Given the description of an element on the screen output the (x, y) to click on. 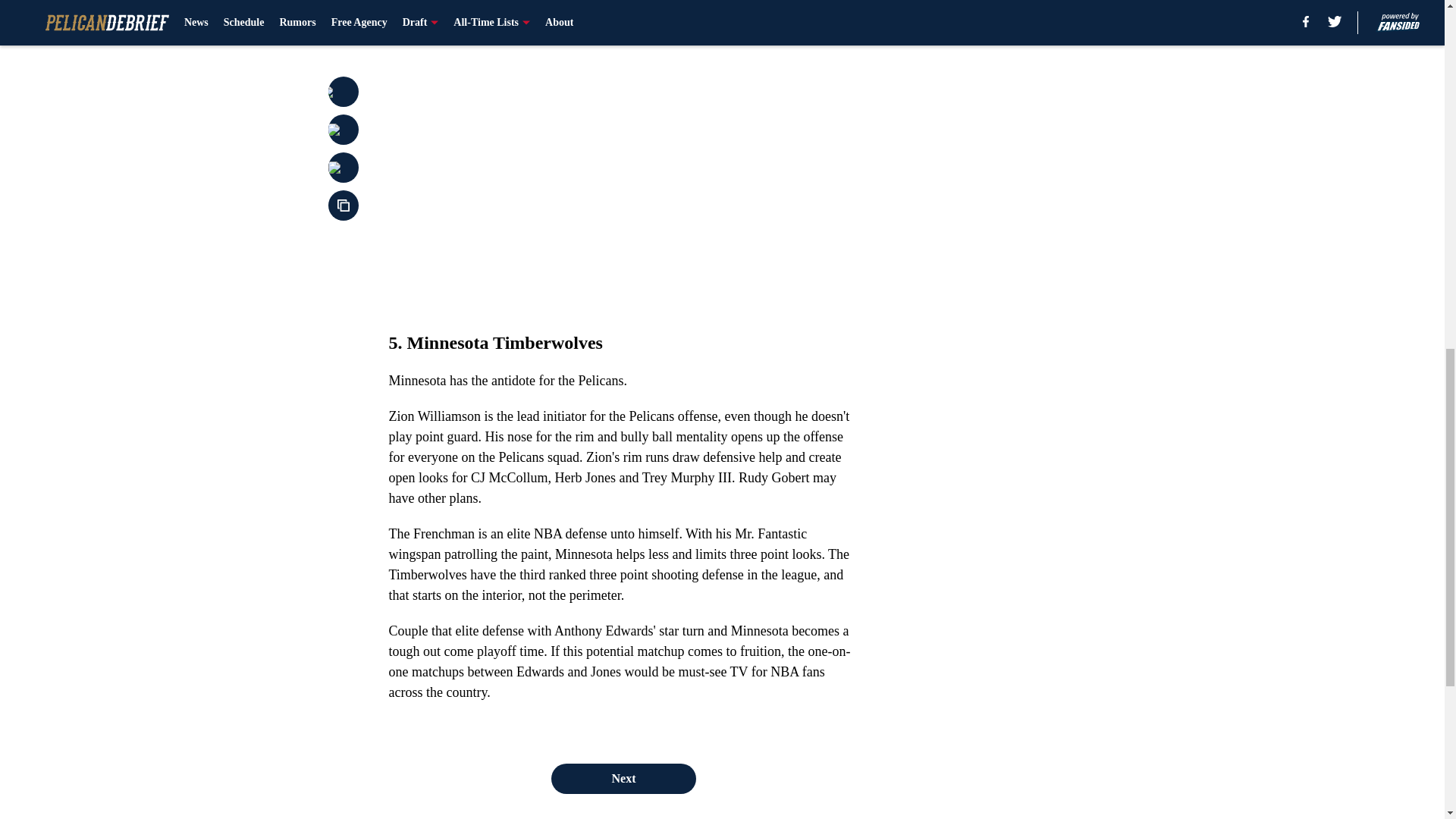
Prev (433, 20)
Next (622, 778)
Next (813, 20)
